Given the description of an element on the screen output the (x, y) to click on. 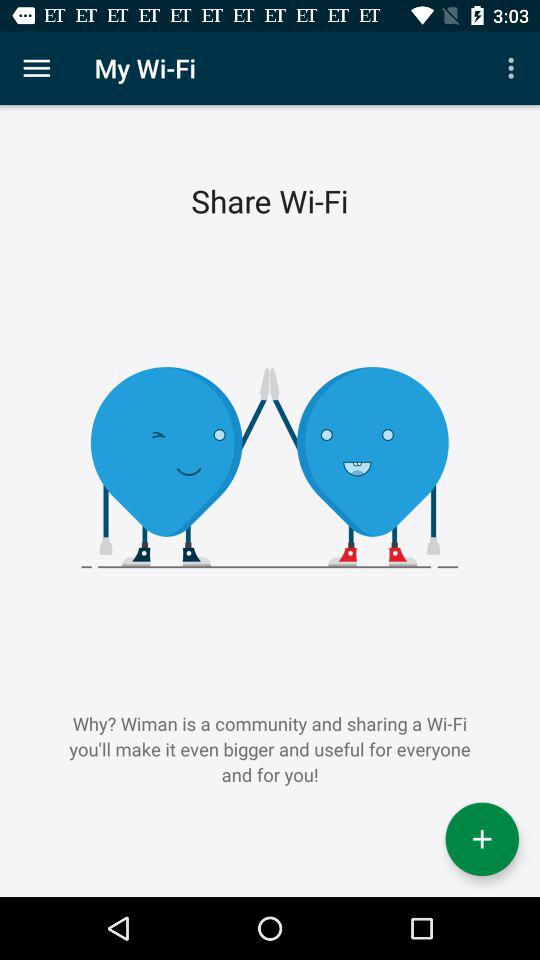
turn on icon at the top right corner (513, 67)
